Given the description of an element on the screen output the (x, y) to click on. 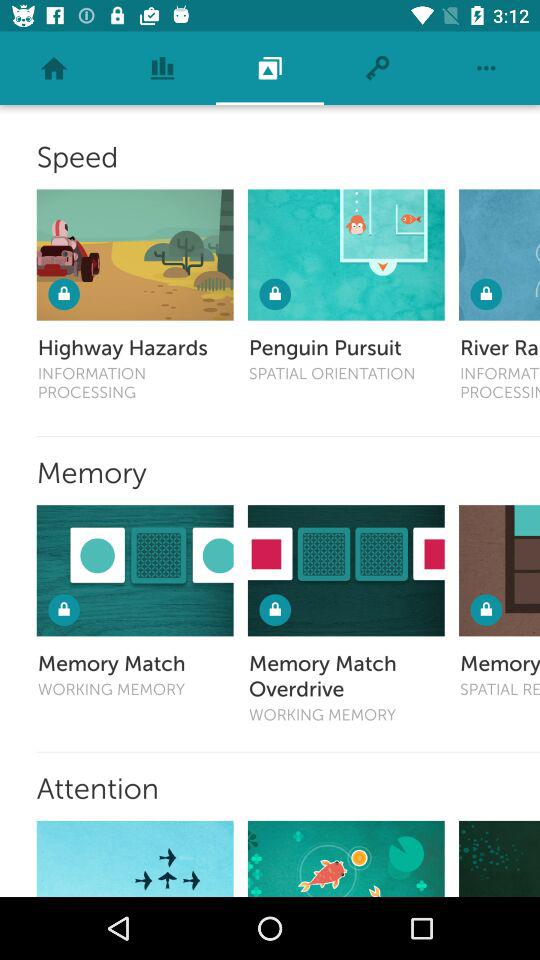
penguin pursuit icon (345, 254)
